Given the description of an element on the screen output the (x, y) to click on. 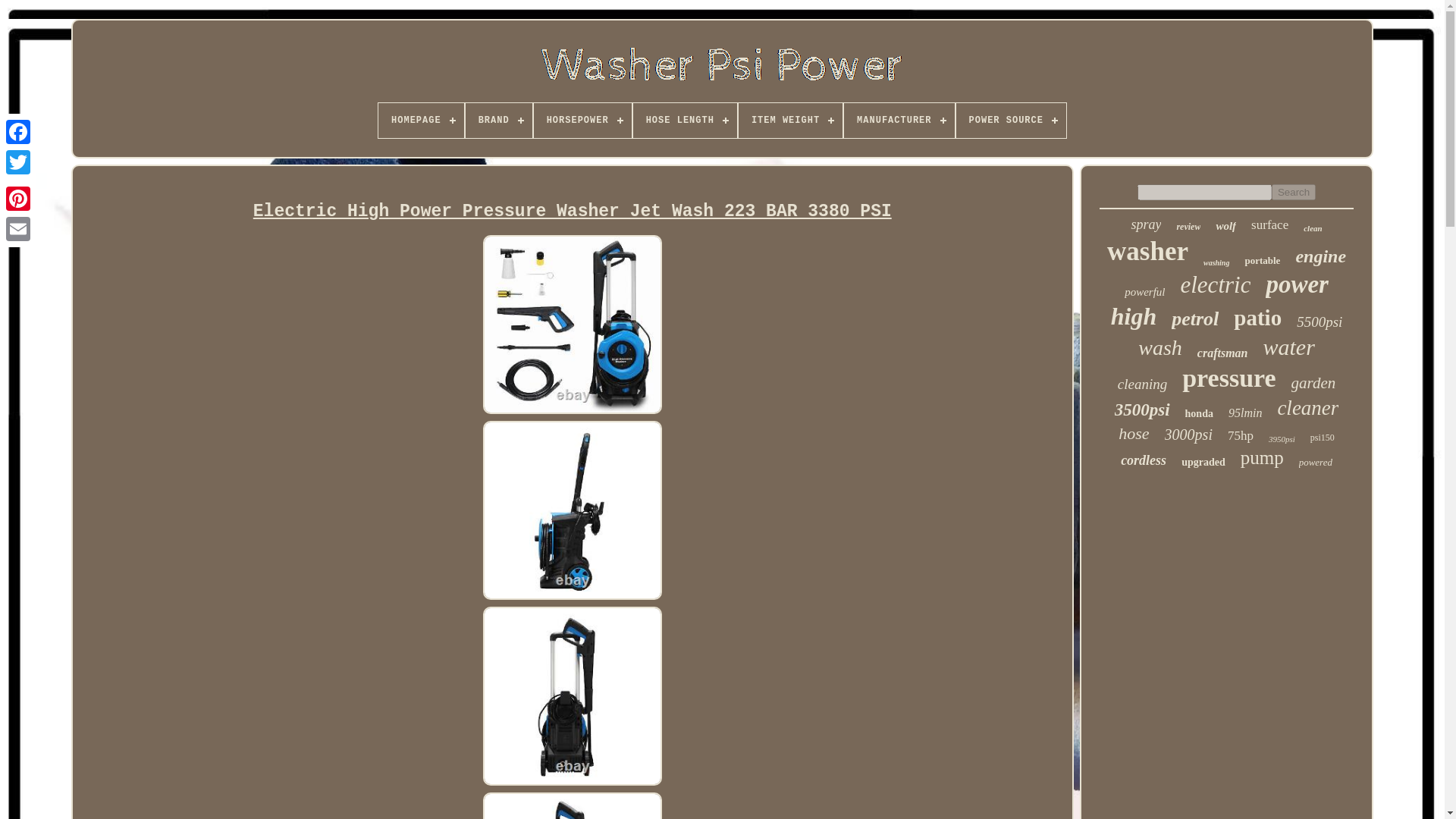
Facebook (17, 132)
HOMEPAGE (421, 120)
Search (1293, 191)
HORSEPOWER (582, 120)
BRAND (498, 120)
